Given the description of an element on the screen output the (x, y) to click on. 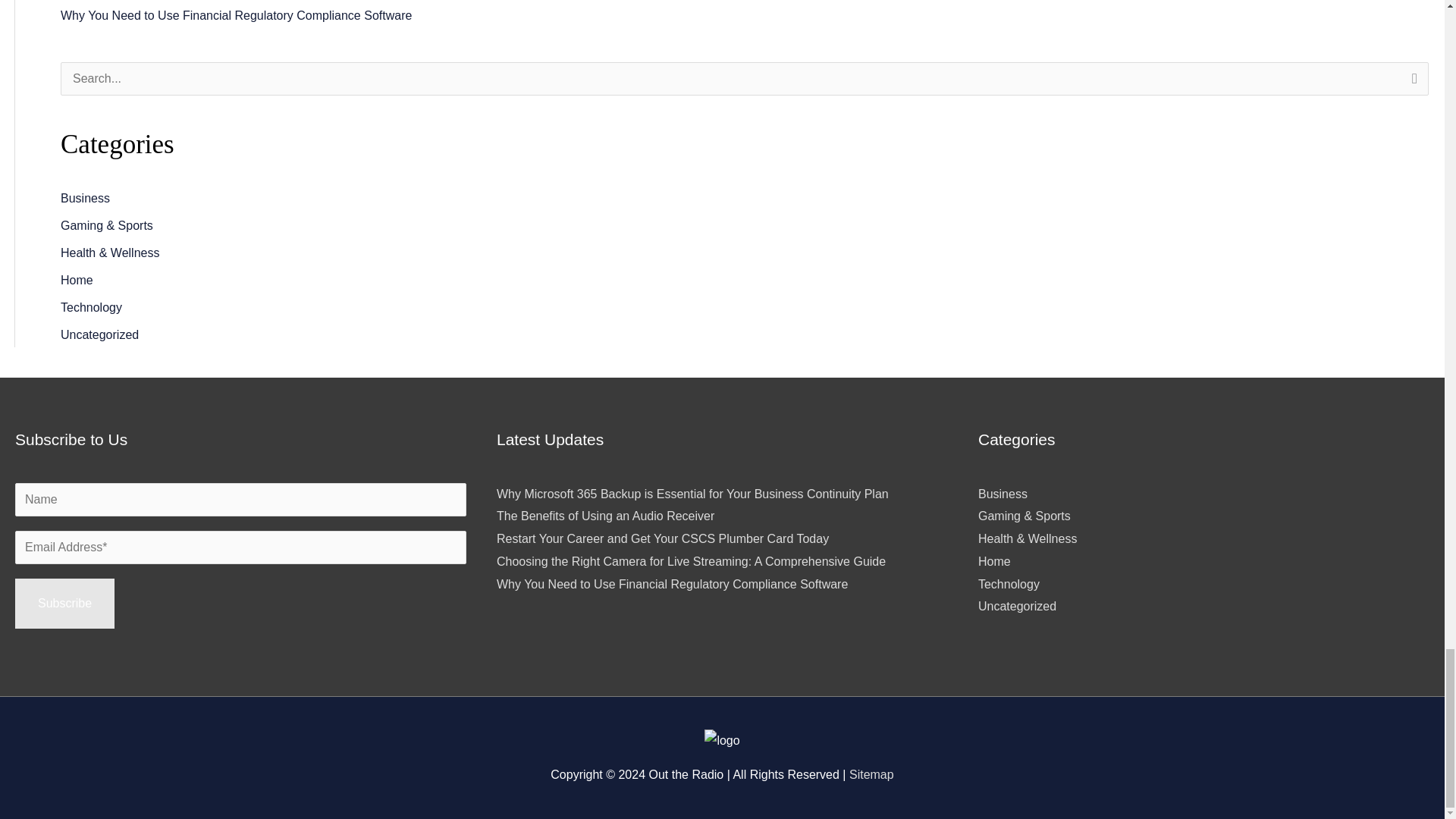
Subscribe (64, 603)
Business (85, 197)
Technology (91, 307)
Subscribe (64, 603)
Search (1411, 83)
Search (1411, 83)
Search (1411, 83)
Uncategorized (99, 334)
Why You Need to Use Financial Regulatory Compliance Software (236, 15)
Home (77, 279)
